Given the description of an element on the screen output the (x, y) to click on. 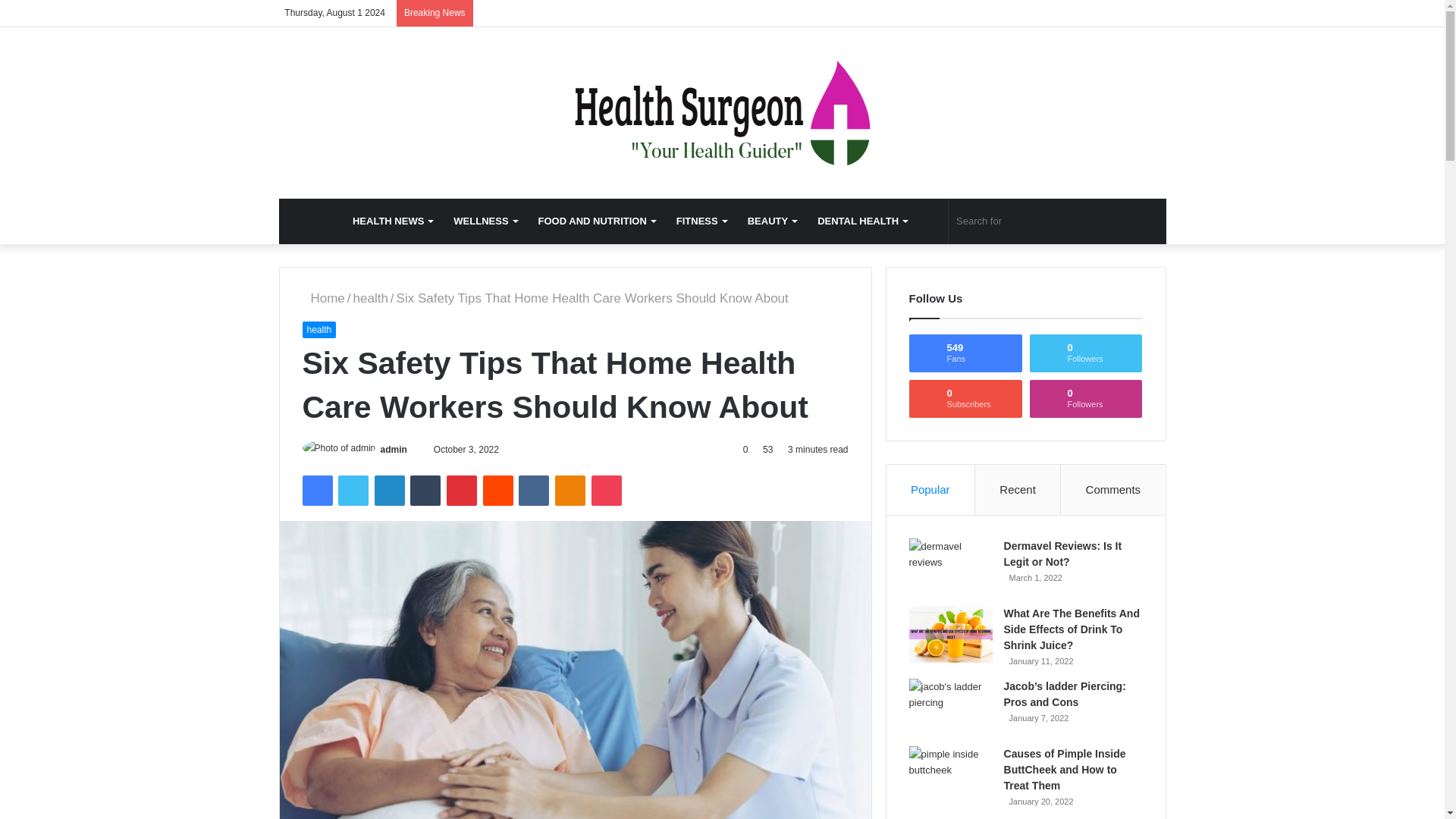
FOOD AND NUTRITION (596, 221)
Twitter (352, 490)
Facebook (316, 490)
DENTAL HEALTH (861, 221)
Health Surgeon (722, 112)
Reddit (498, 490)
FITNESS (700, 221)
LinkedIn (389, 490)
BEAUTY (771, 221)
Tumblr (425, 490)
